Given the description of an element on the screen output the (x, y) to click on. 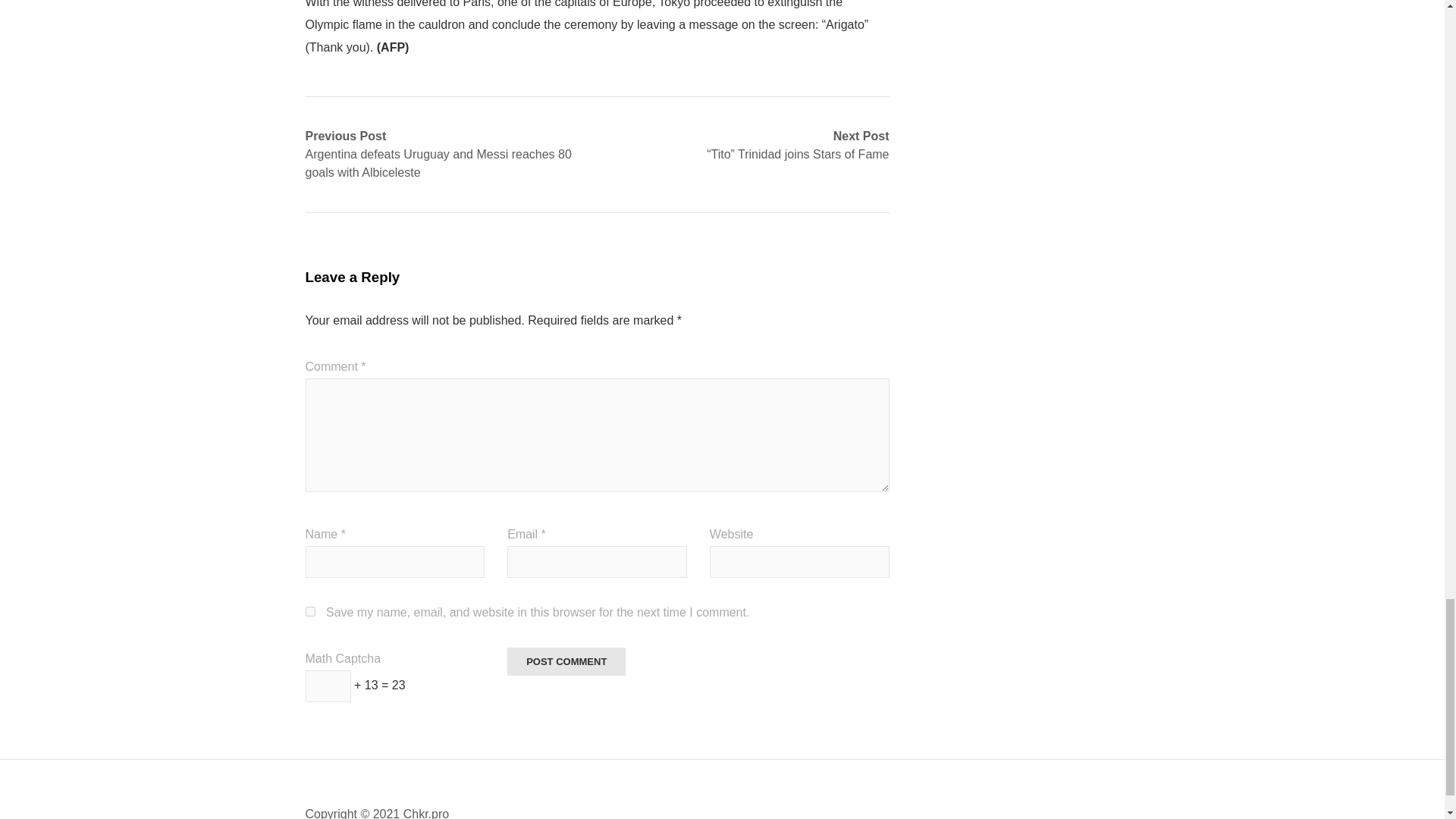
yes (309, 611)
Post Comment (566, 661)
Post Comment (566, 661)
